Given the description of an element on the screen output the (x, y) to click on. 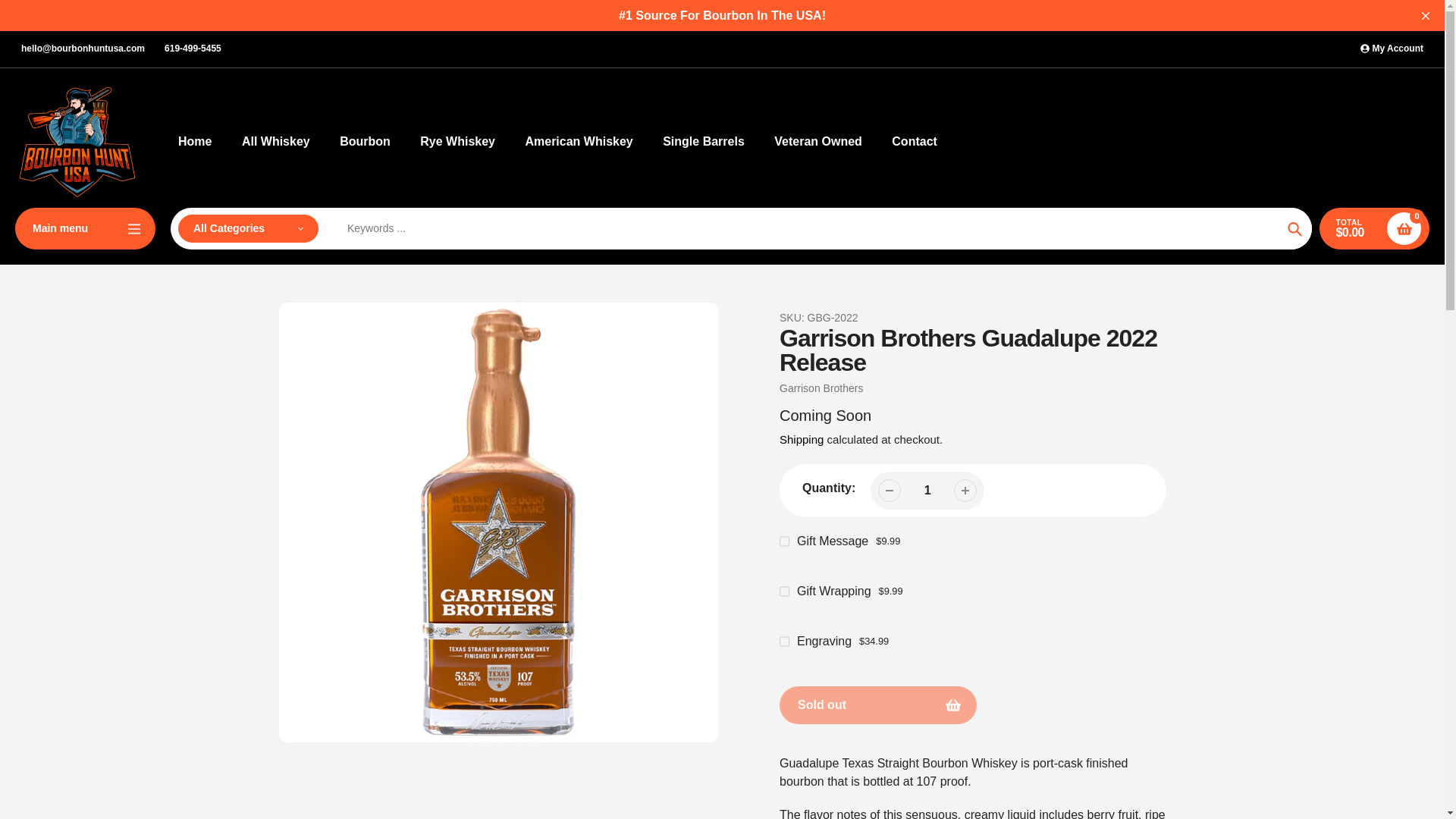
Home (194, 141)
Contact (914, 141)
All Whiskey (275, 141)
American Whiskey (577, 141)
All Categories (247, 228)
Veteran Owned (817, 141)
1 (927, 490)
Main menu (84, 228)
Rye Whiskey (457, 141)
619-499-5455 (192, 48)
My Account (1391, 48)
Single Barrels (703, 141)
Bourbon (364, 141)
